Given the description of an element on the screen output the (x, y) to click on. 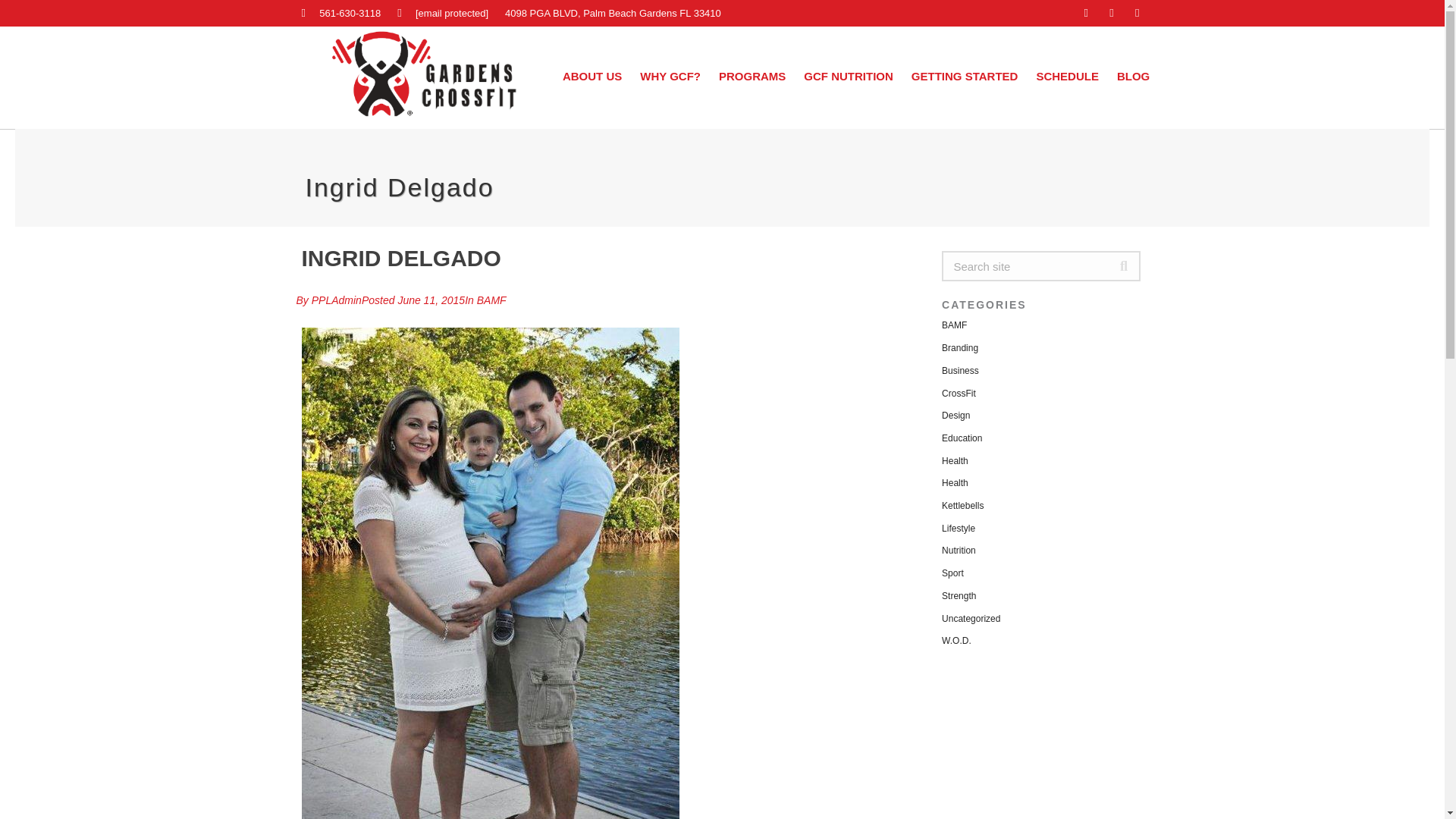
GCF NUTRITION (848, 75)
GETTING STARTED (965, 75)
BLOG (1133, 75)
561-630-3118 (341, 13)
ABOUT US (591, 75)
PROGRAMS (752, 75)
SCHEDULE (1066, 75)
WHY GCF? (670, 75)
